Given the description of an element on the screen output the (x, y) to click on. 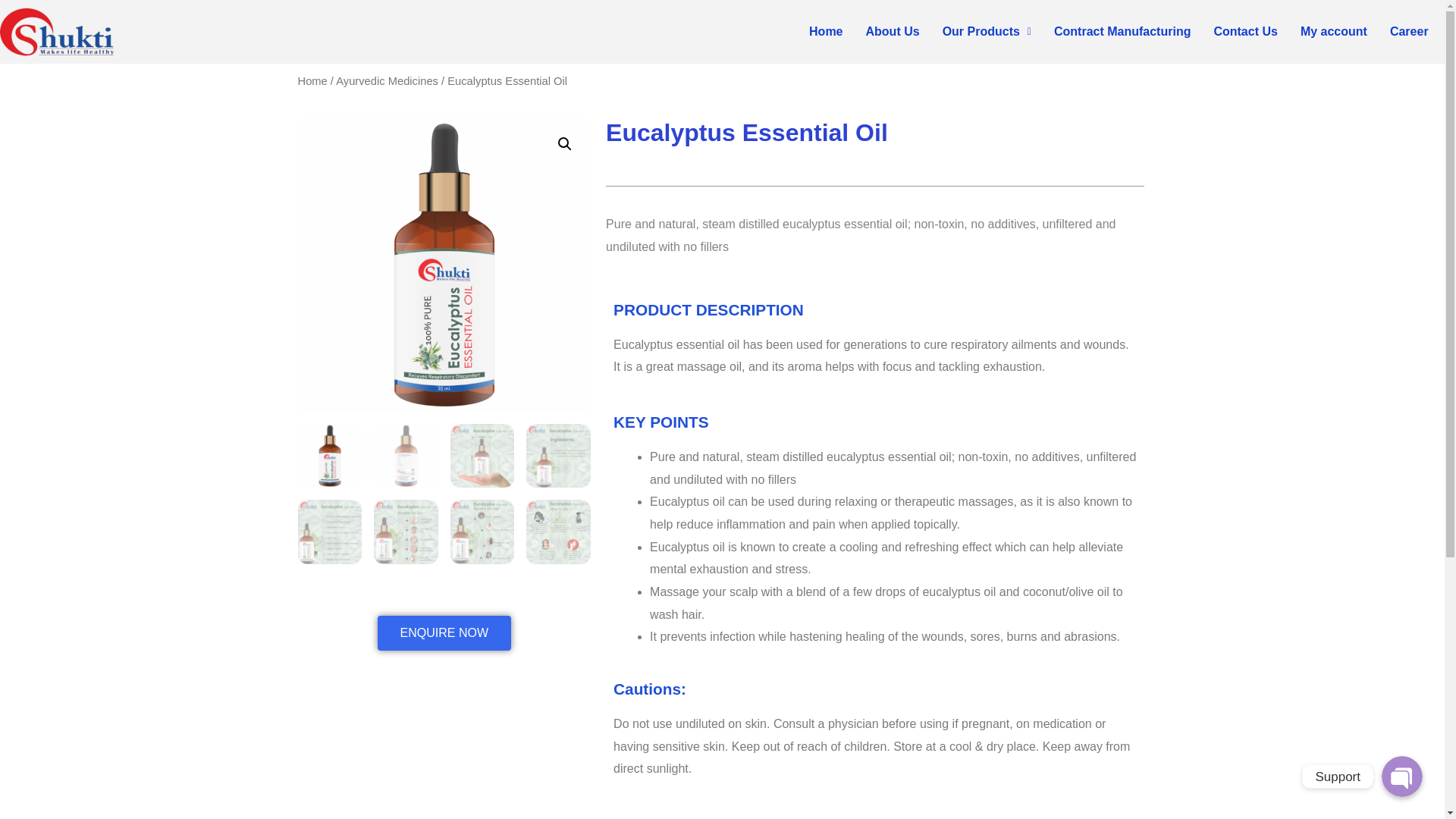
2 (737, 264)
Home (825, 31)
Our Products (986, 31)
1 (444, 264)
My account (1333, 31)
Career (1408, 31)
ENQUIRE NOW (444, 632)
Contract Manufacturing (1122, 31)
Ayurvedic Medicines (387, 80)
Home (311, 80)
Contact Us (1245, 31)
About Us (892, 31)
